Given the description of an element on the screen output the (x, y) to click on. 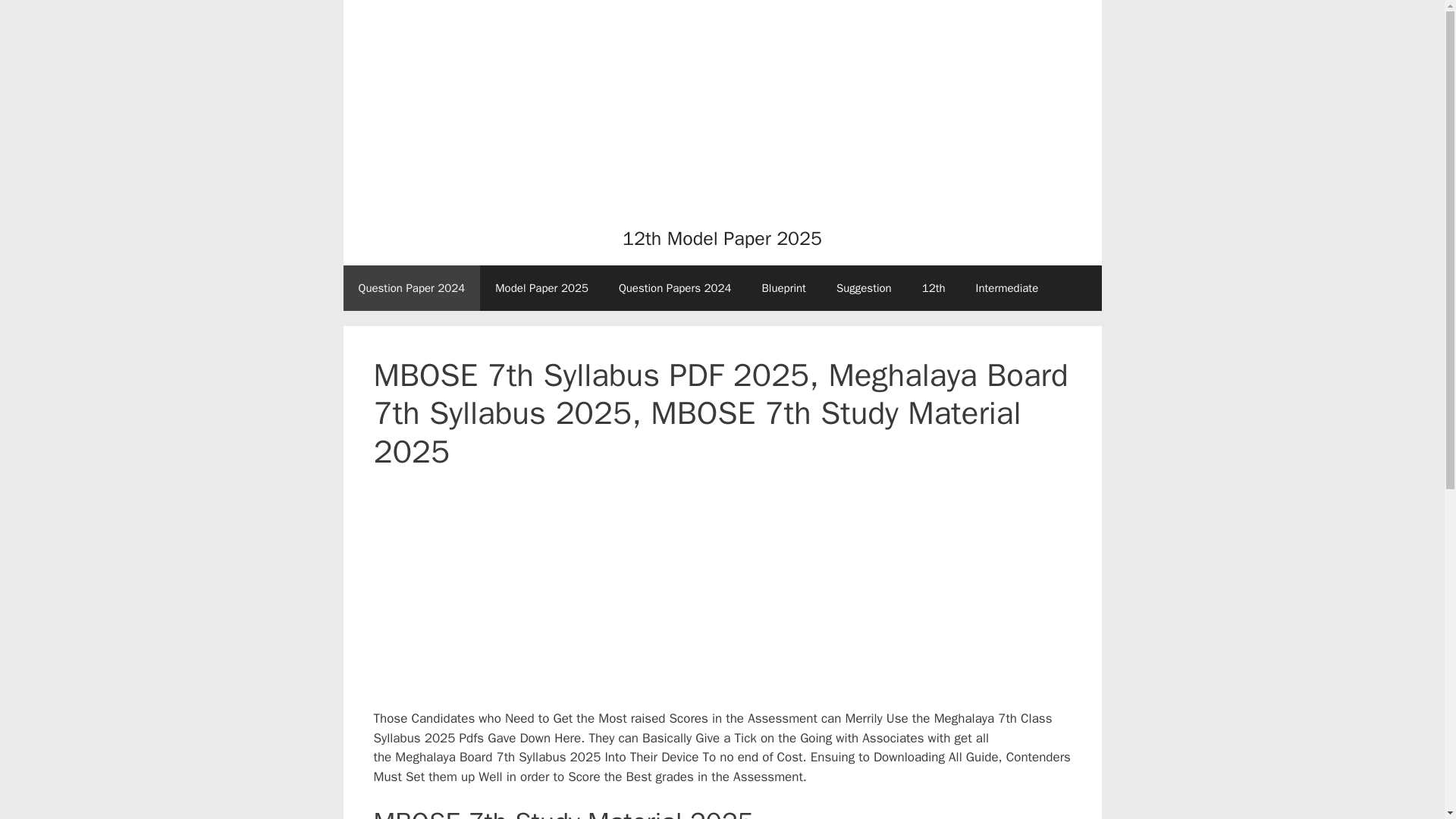
12th (933, 288)
Blueprint (783, 288)
Suggestion (864, 288)
12th Model Paper 2025 (722, 238)
Intermediate (1007, 288)
Question Paper 2024 (411, 288)
Question Papers 2024 (675, 288)
Model Paper 2025 (542, 288)
